Given the description of an element on the screen output the (x, y) to click on. 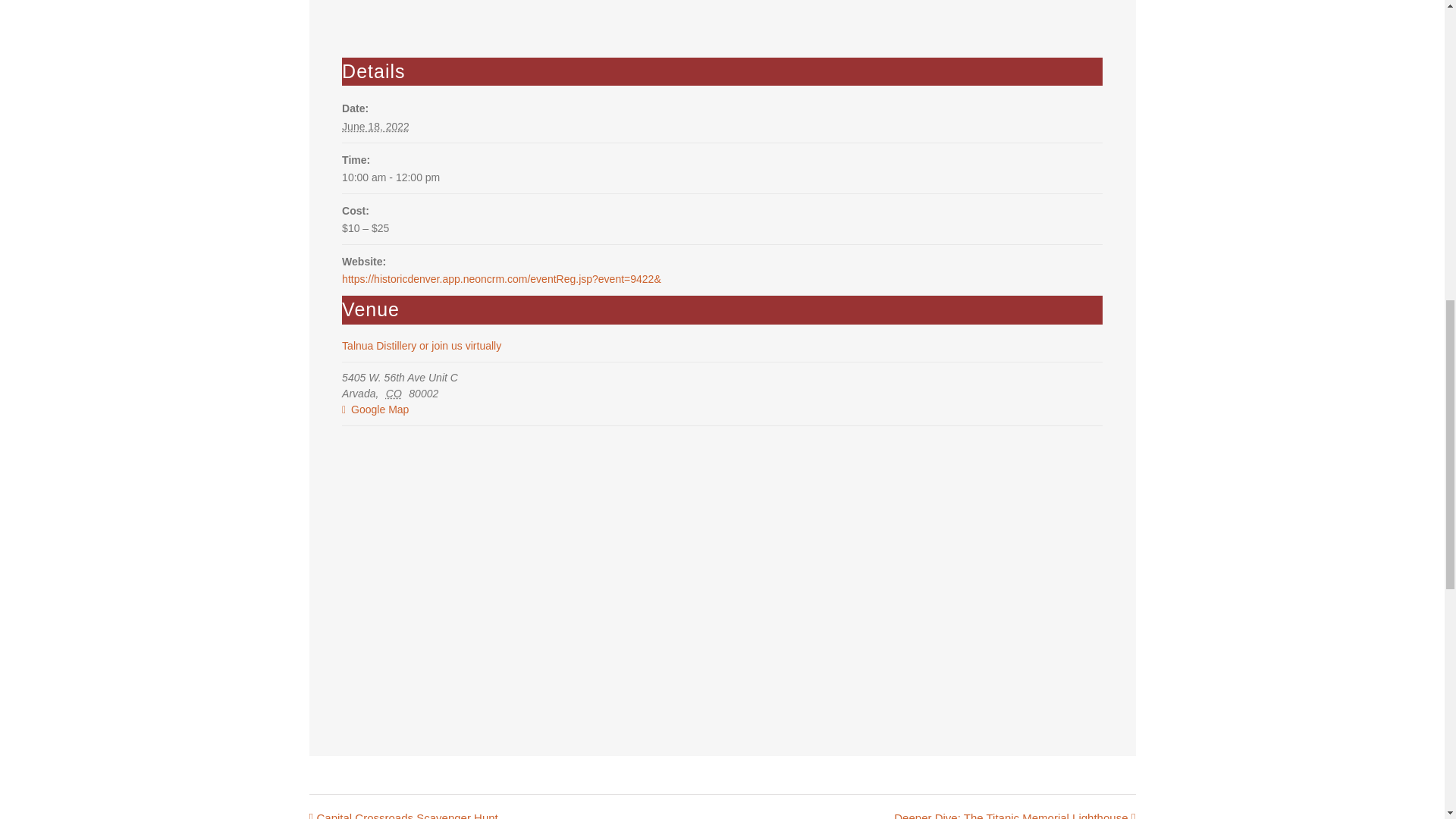
2022-06-18 (722, 177)
Capital Crossroads Scavenger Hunt (407, 815)
2022-06-18 (375, 126)
Colorado (395, 393)
Google Map (721, 409)
Deeper Dive: The Titanic Memorial Lighthouse (1009, 815)
Talnua Distillery or join us virtually (421, 345)
Click to view a Google Map (721, 409)
